Given the description of an element on the screen output the (x, y) to click on. 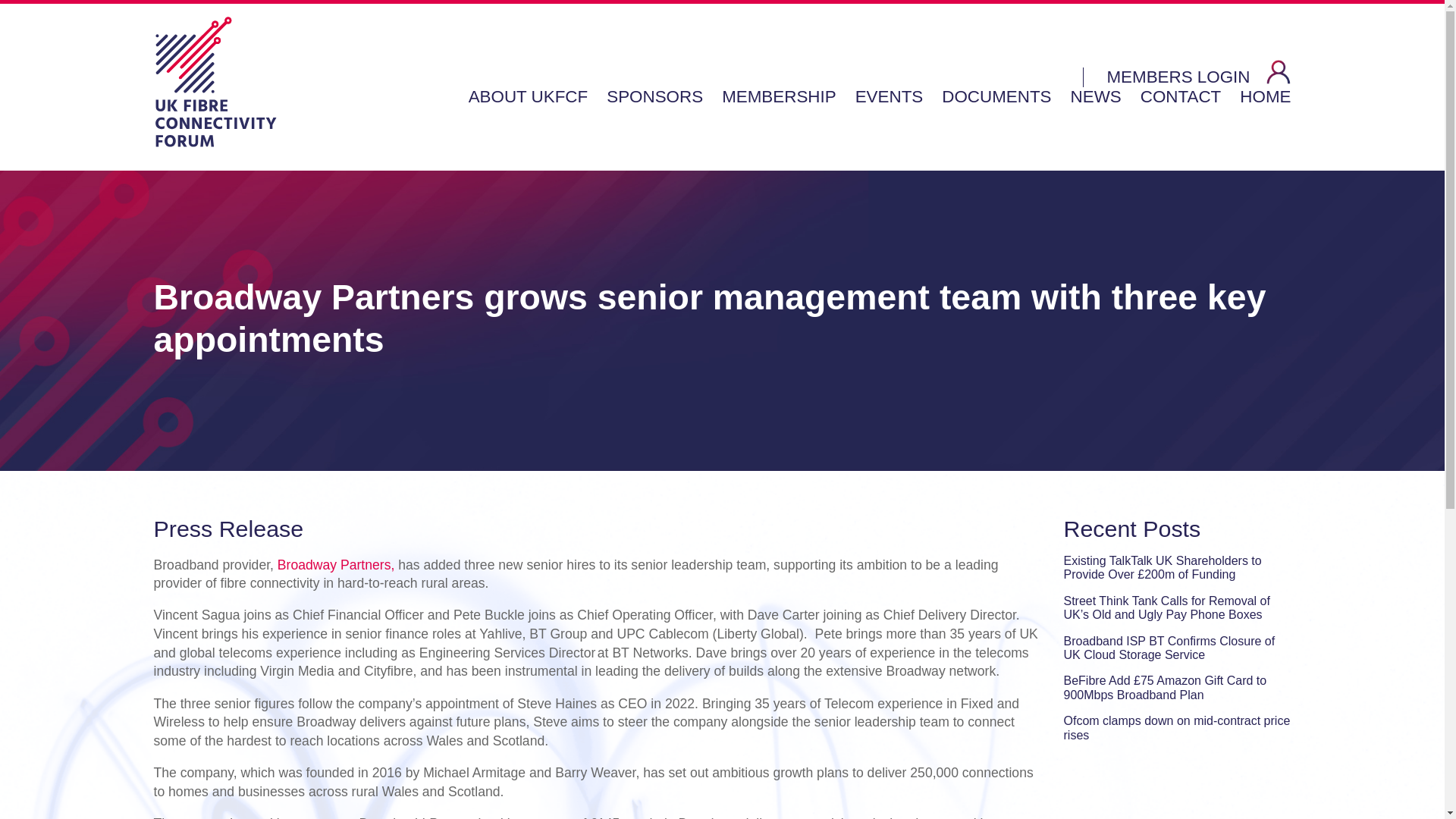
NEWS (1095, 96)
CONTACT (1180, 96)
Broadway Partners, (336, 564)
HOME (1265, 96)
MEMBERS LOGIN (1198, 72)
Ofcom clamps down on mid-contract price rises (1176, 727)
MEMBERSHIP (778, 96)
EVENTS (889, 96)
SPONSORS (655, 96)
ABOUT UKFCF (528, 96)
DOCUMENTS (996, 96)
